Given the description of an element on the screen output the (x, y) to click on. 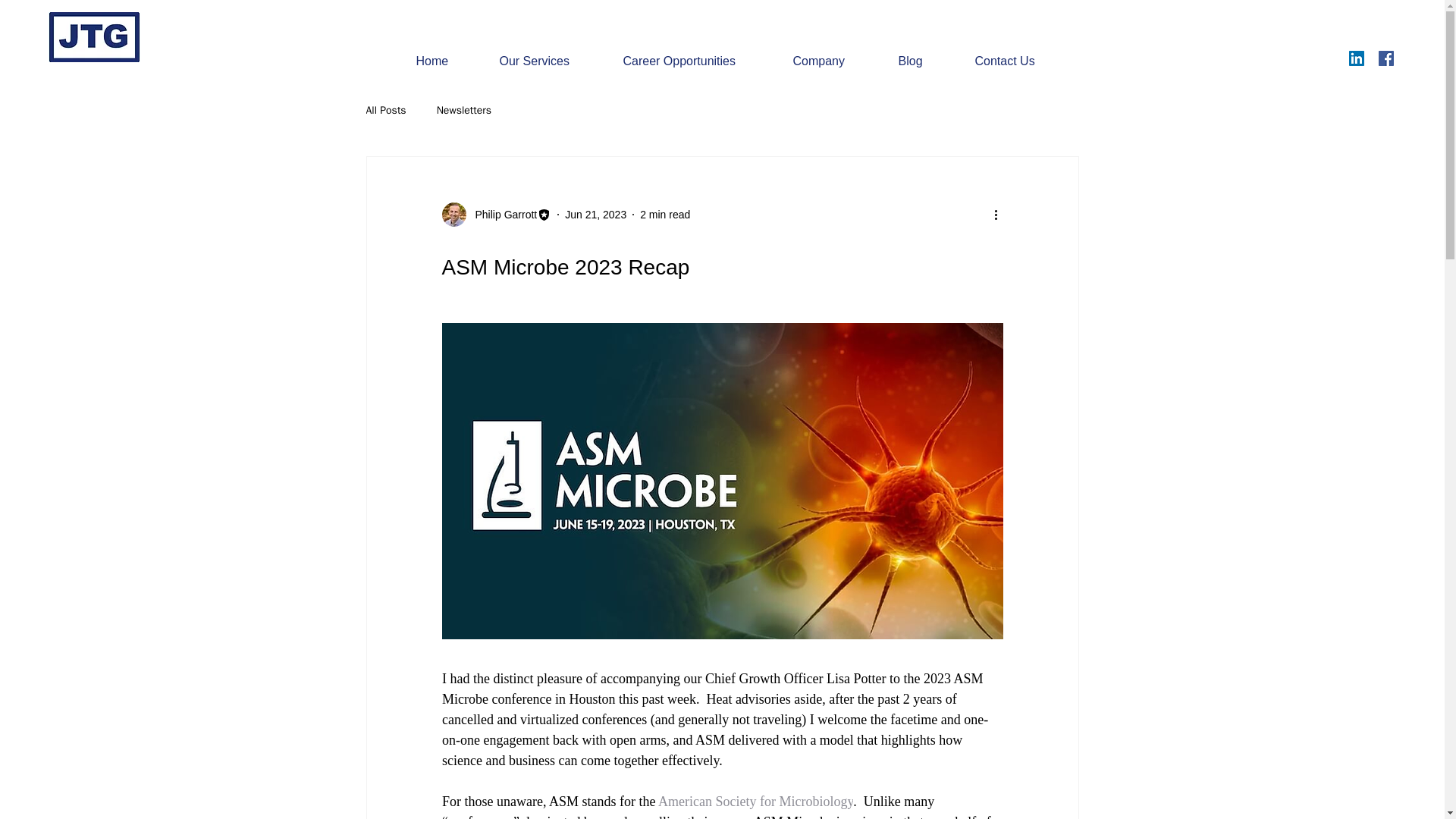
Our Services (549, 61)
Home (445, 61)
Jun 21, 2023 (595, 214)
Newsletters (464, 110)
Career Opportunities (695, 61)
American Society for Microbiology (754, 801)
Contact Us (1019, 61)
All Posts (385, 110)
2 min read (665, 214)
Philip Garrott (496, 214)
